Given the description of an element on the screen output the (x, y) to click on. 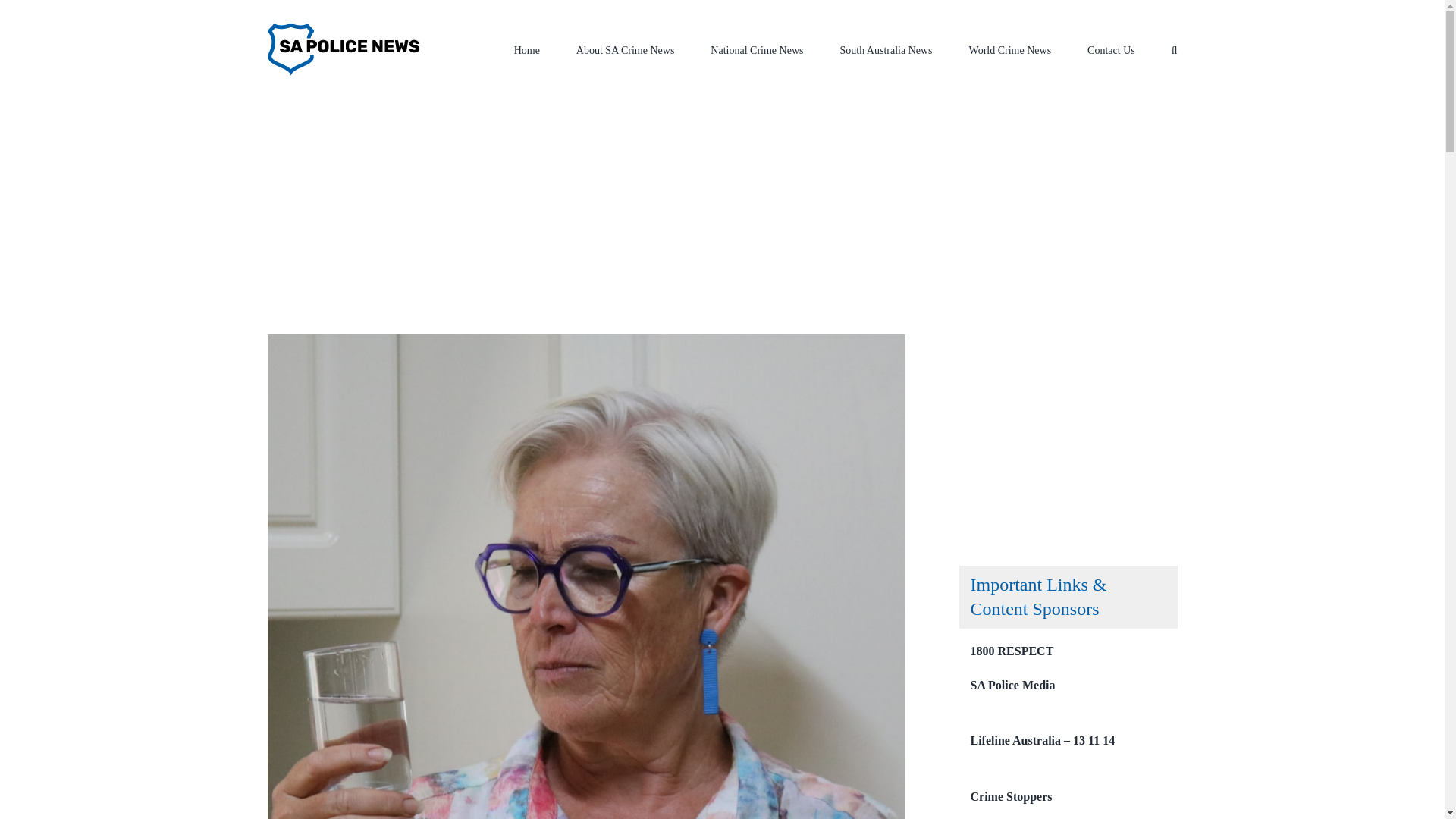
South Australian News (537, 240)
Home (465, 240)
About SA Crime News (625, 49)
National Crime News (756, 49)
South Australia News (885, 49)
